Given the description of an element on the screen output the (x, y) to click on. 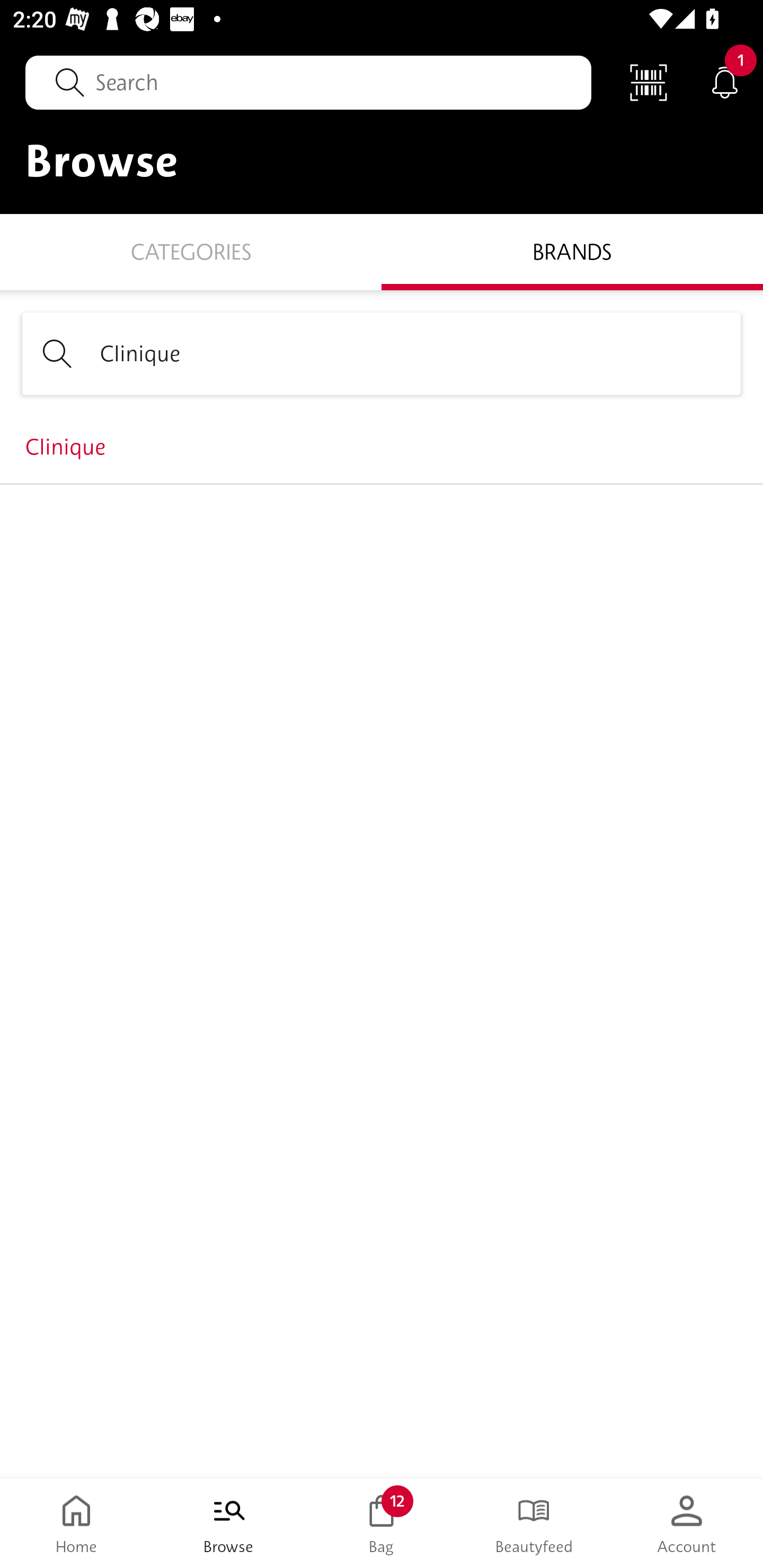
Scan Code (648, 81)
Notifications (724, 81)
Search (308, 81)
Categories CATEGORIES (190, 251)
Clinique (381, 353)
Clinique (381, 446)
Home (76, 1523)
Bag 12 Bag (381, 1523)
Beautyfeed (533, 1523)
Account (686, 1523)
